Given the description of an element on the screen output the (x, y) to click on. 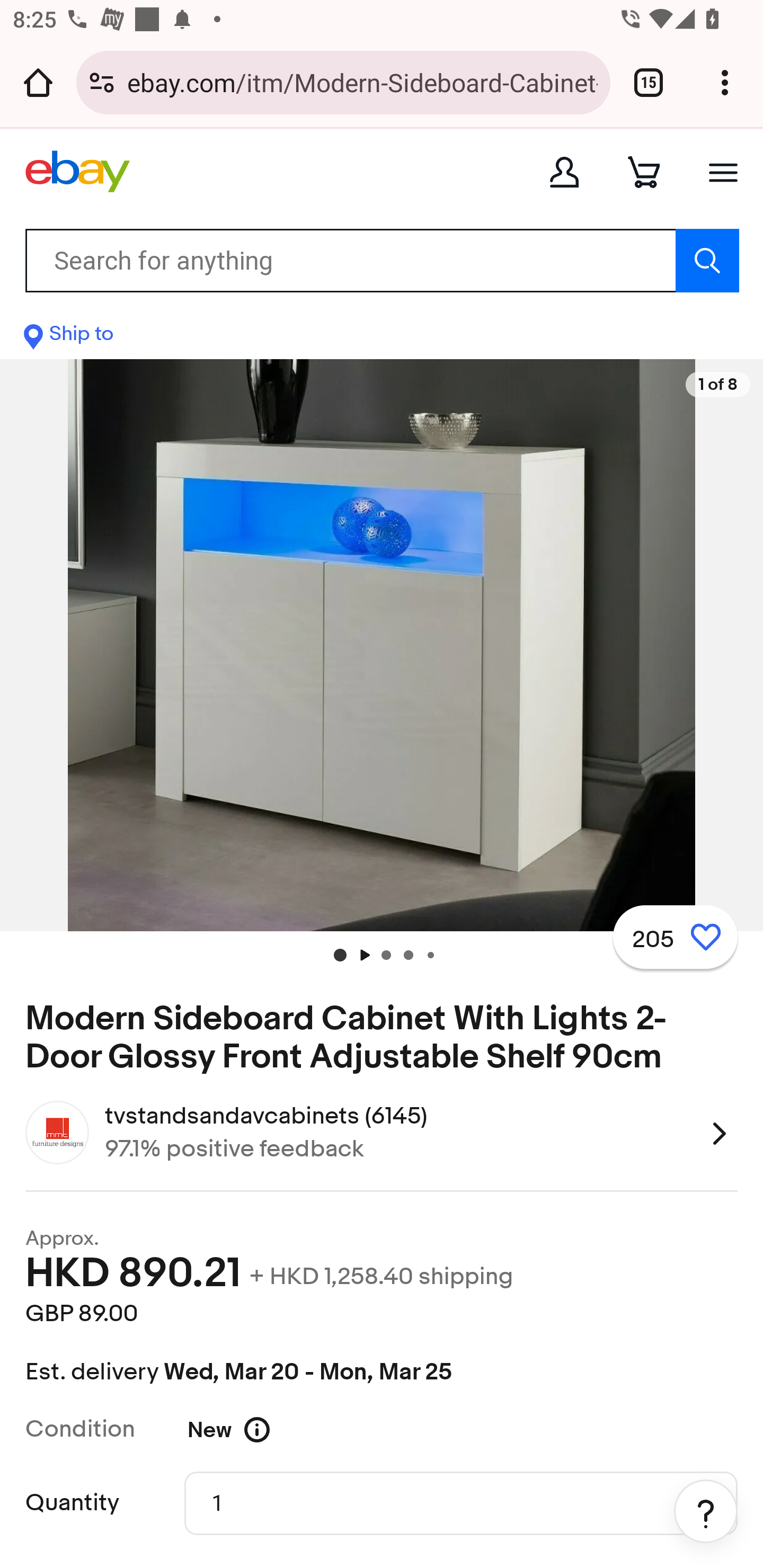
Open the home page (38, 82)
Connection is secure (101, 82)
Switch or close tabs (648, 82)
Customize and control Google Chrome (724, 82)
Open Menu (723, 171)
My eBay (564, 171)
Your shopping cart is empty (643, 171)
eBay Home (77, 171)
Search (707, 259)
Ship to  (68, 338)
Add to watchlist - 205 watchers (674, 936)
Video 1 of 1 (363, 954)
Picture 1 of 7 (340, 954)
Picture 2 of 7 (385, 954)
Picture 3 of 7 (408, 954)
Picture 4 of 7 (430, 954)
More information - About this item condition (269, 1428)
Quantity (460, 1502)
Help (705, 1511)
